Given the description of an element on the screen output the (x, y) to click on. 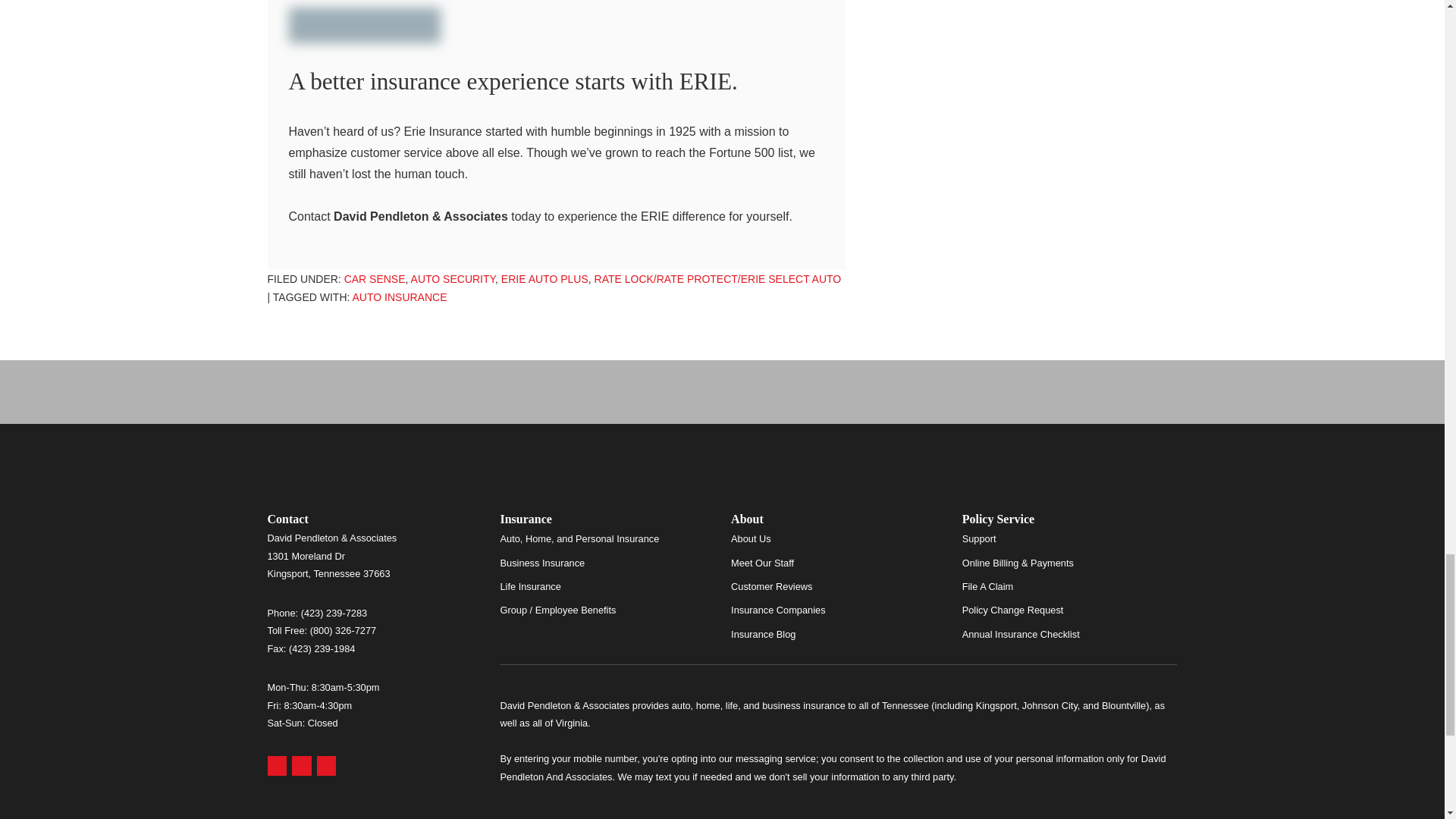
Facebook (326, 765)
Car Sense (374, 278)
ERIE Auto Plus (544, 278)
Google Maps (276, 765)
Auto Insurance (399, 297)
Yelp (301, 765)
Auto Security (453, 278)
